Given the description of an element on the screen output the (x, y) to click on. 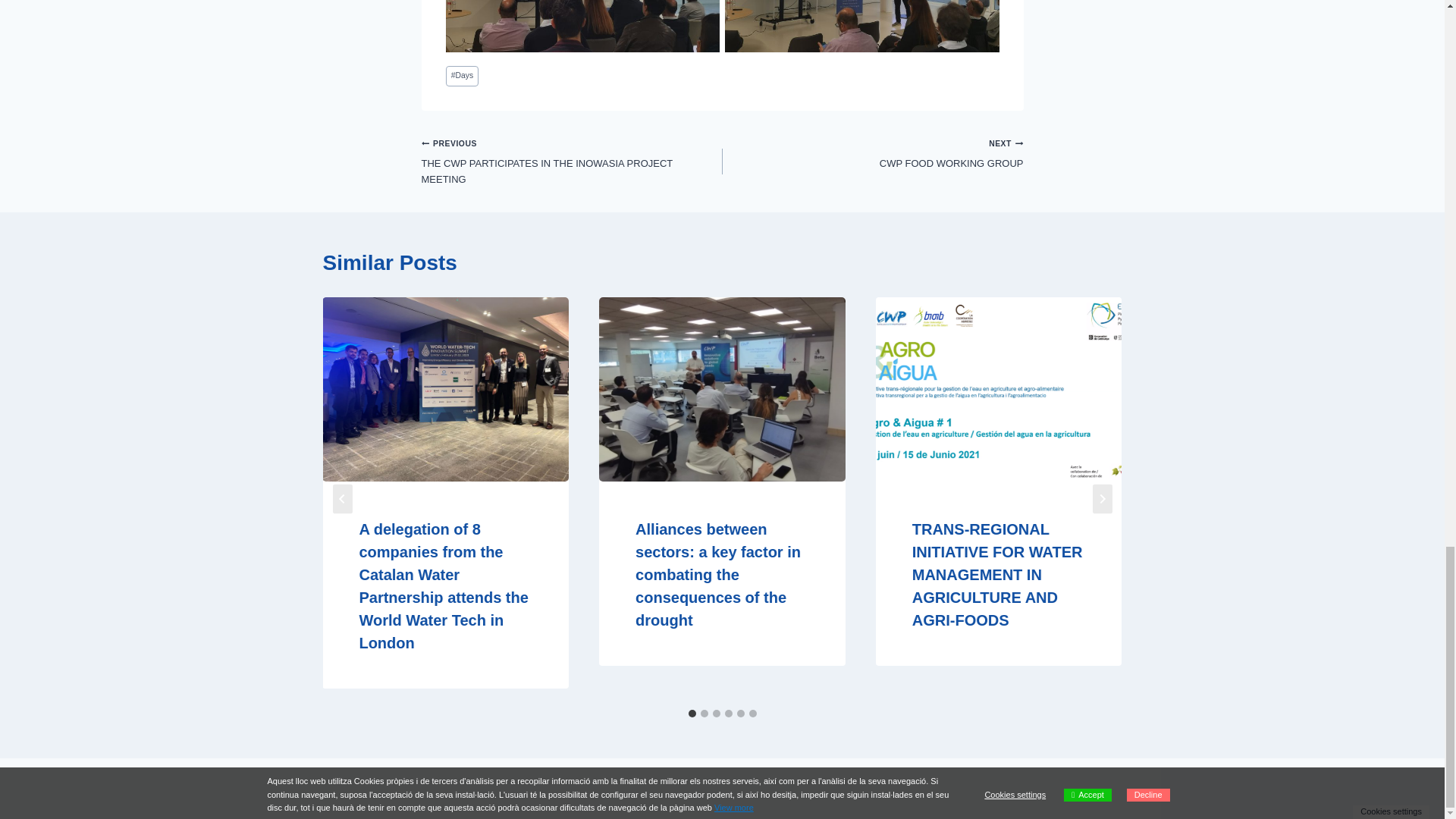
Days (462, 76)
